Given the description of an element on the screen output the (x, y) to click on. 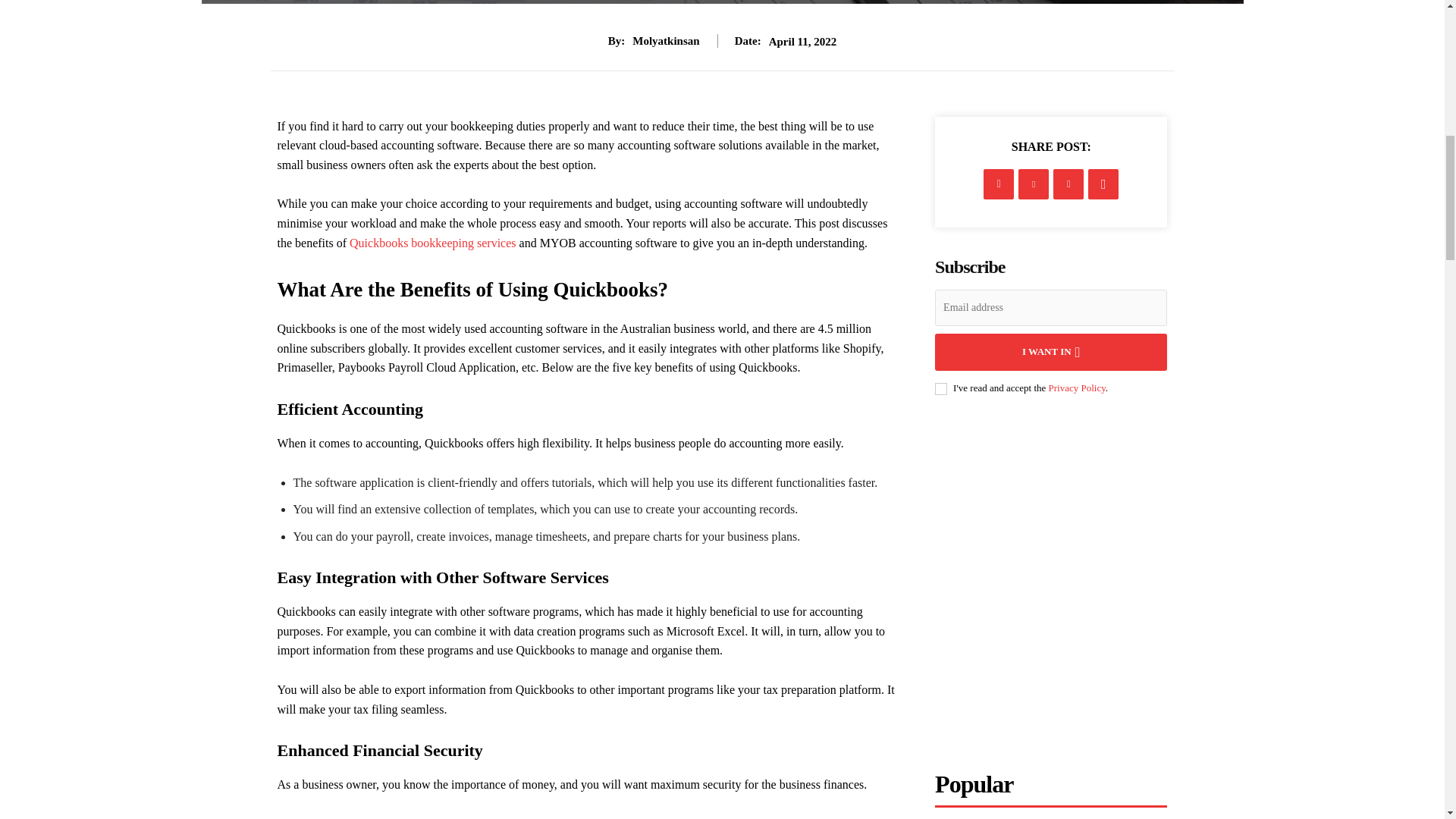
WhatsApp (1102, 183)
Facebook (998, 183)
Pinterest (1067, 183)
Twitter (1032, 183)
